Given the description of an element on the screen output the (x, y) to click on. 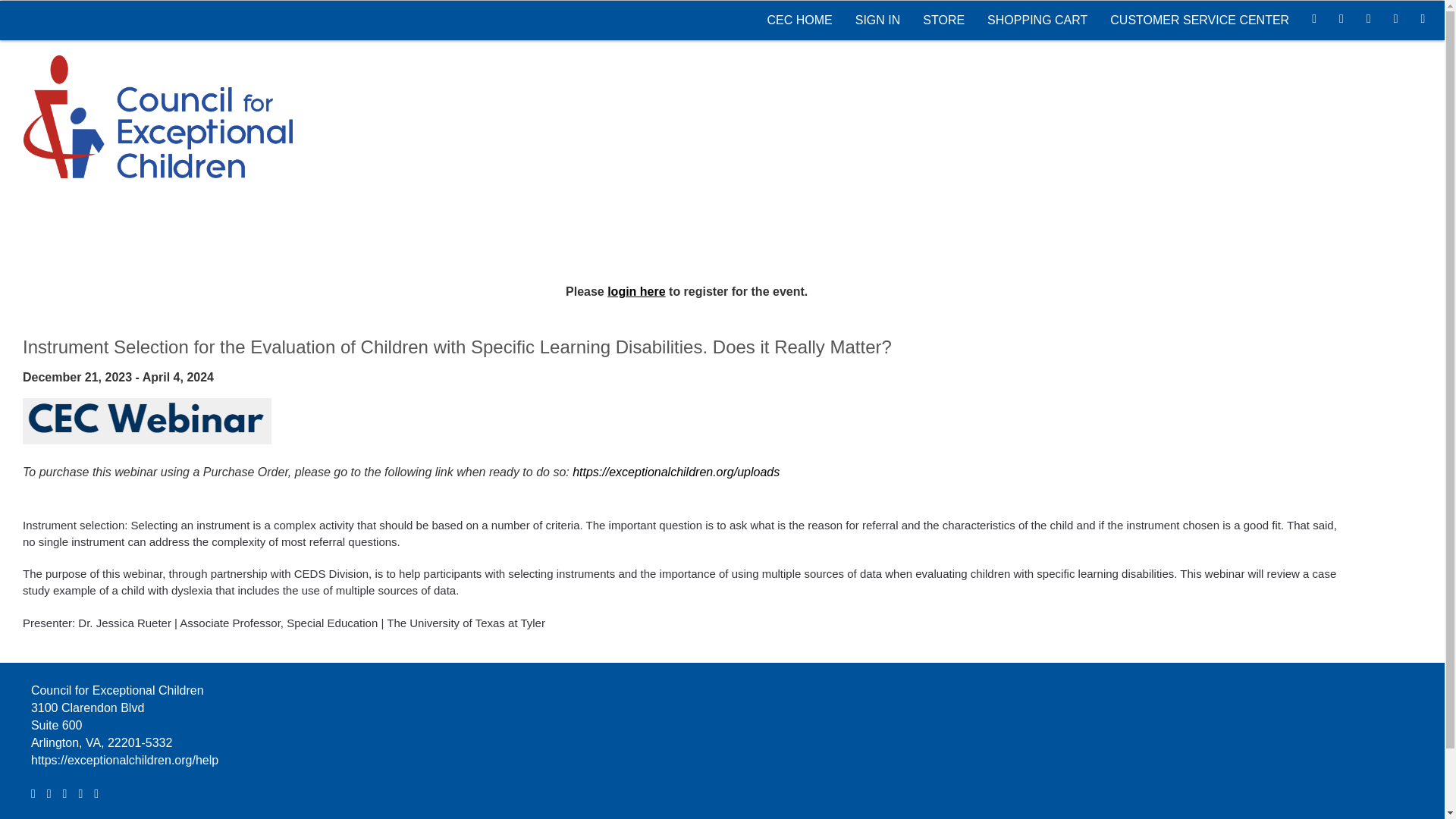
CEC Store (943, 20)
CUSTOMER SERVICE CENTER (1199, 20)
login here (636, 291)
CEC HOME (799, 20)
SIGN IN (878, 19)
STORE (943, 20)
Live Chat Button (1414, 788)
SHOPPING CART (1037, 19)
Council for Exceptional Children (151, 115)
